Given the description of an element on the screen output the (x, y) to click on. 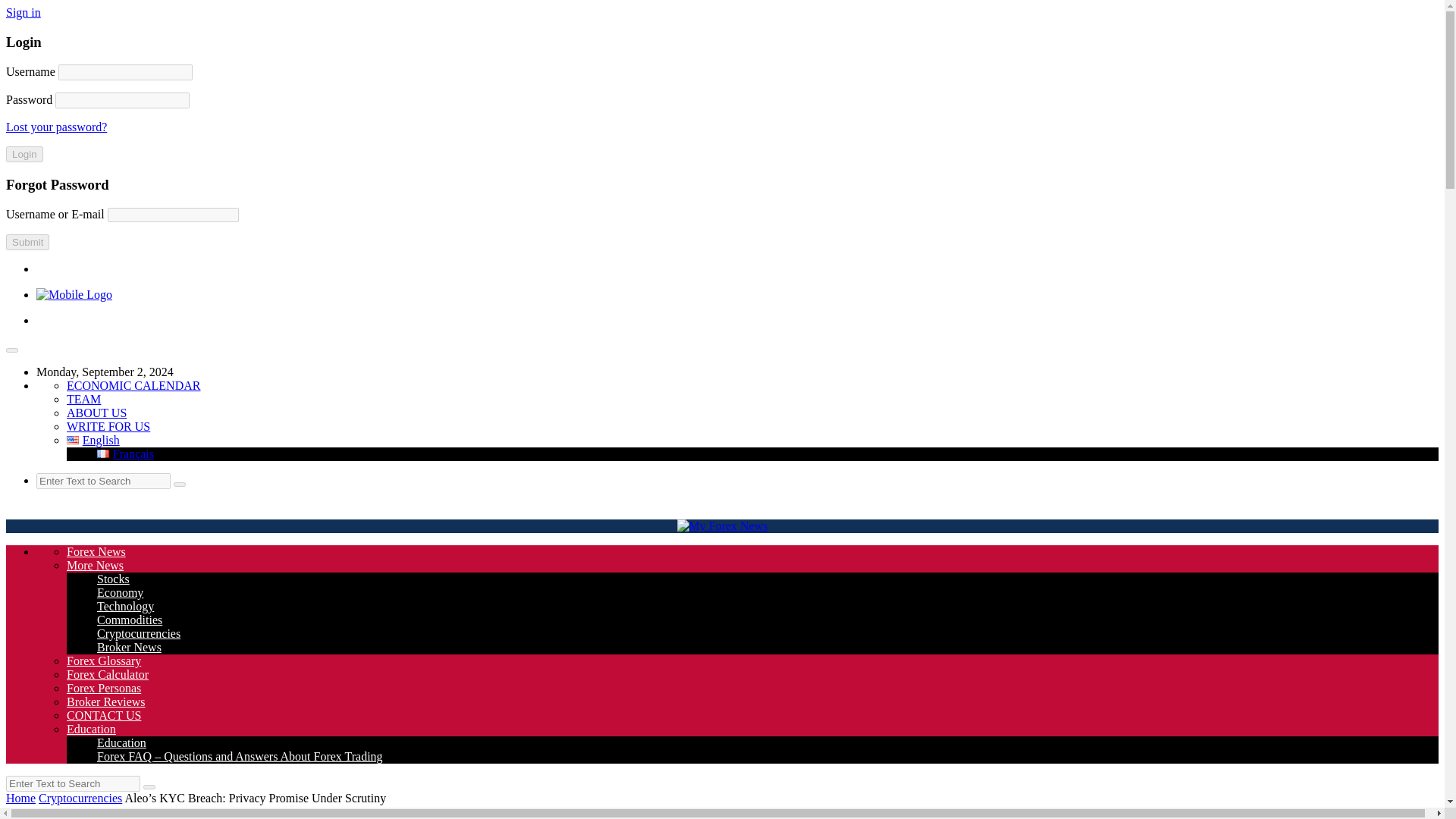
Education (122, 742)
Sign in (22, 11)
Forex Personas (103, 687)
Submit (27, 242)
Economy (119, 592)
WRITE FOR US (107, 426)
Education (91, 728)
Login (24, 154)
ECONOMIC CALENDAR (133, 385)
More News (94, 564)
